Given the description of an element on the screen output the (x, y) to click on. 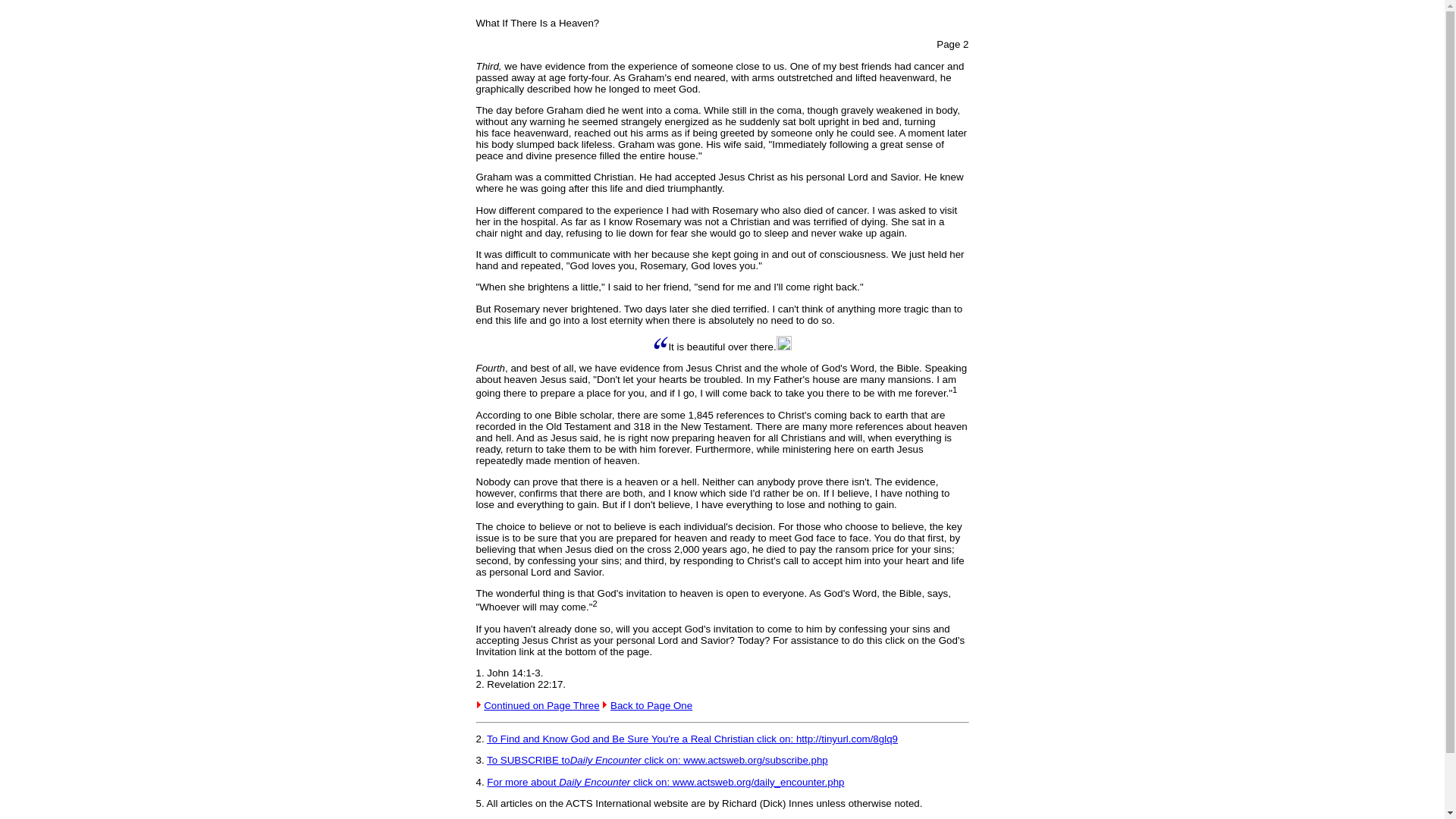
Back to Page One (651, 705)
Continued on Page Three (540, 705)
